Given the description of an element on the screen output the (x, y) to click on. 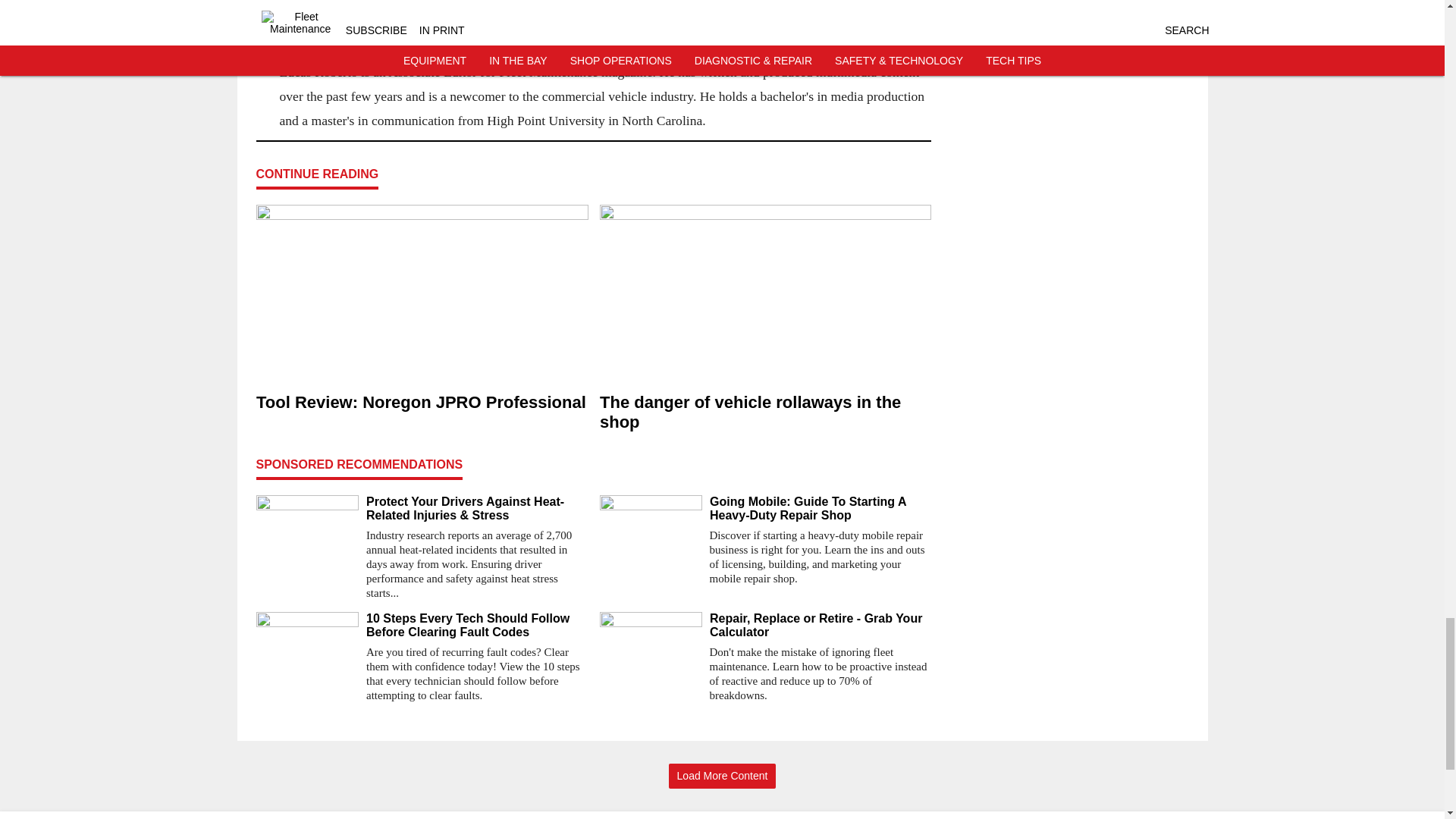
The danger of vehicle rollaways in the shop (764, 412)
Tool Review: Noregon JPRO Professional (422, 402)
Repair, Replace or Retire - Grab Your Calculator (820, 625)
Going Mobile: Guide To Starting A Heavy-Duty Repair Shop (820, 508)
